Given the description of an element on the screen output the (x, y) to click on. 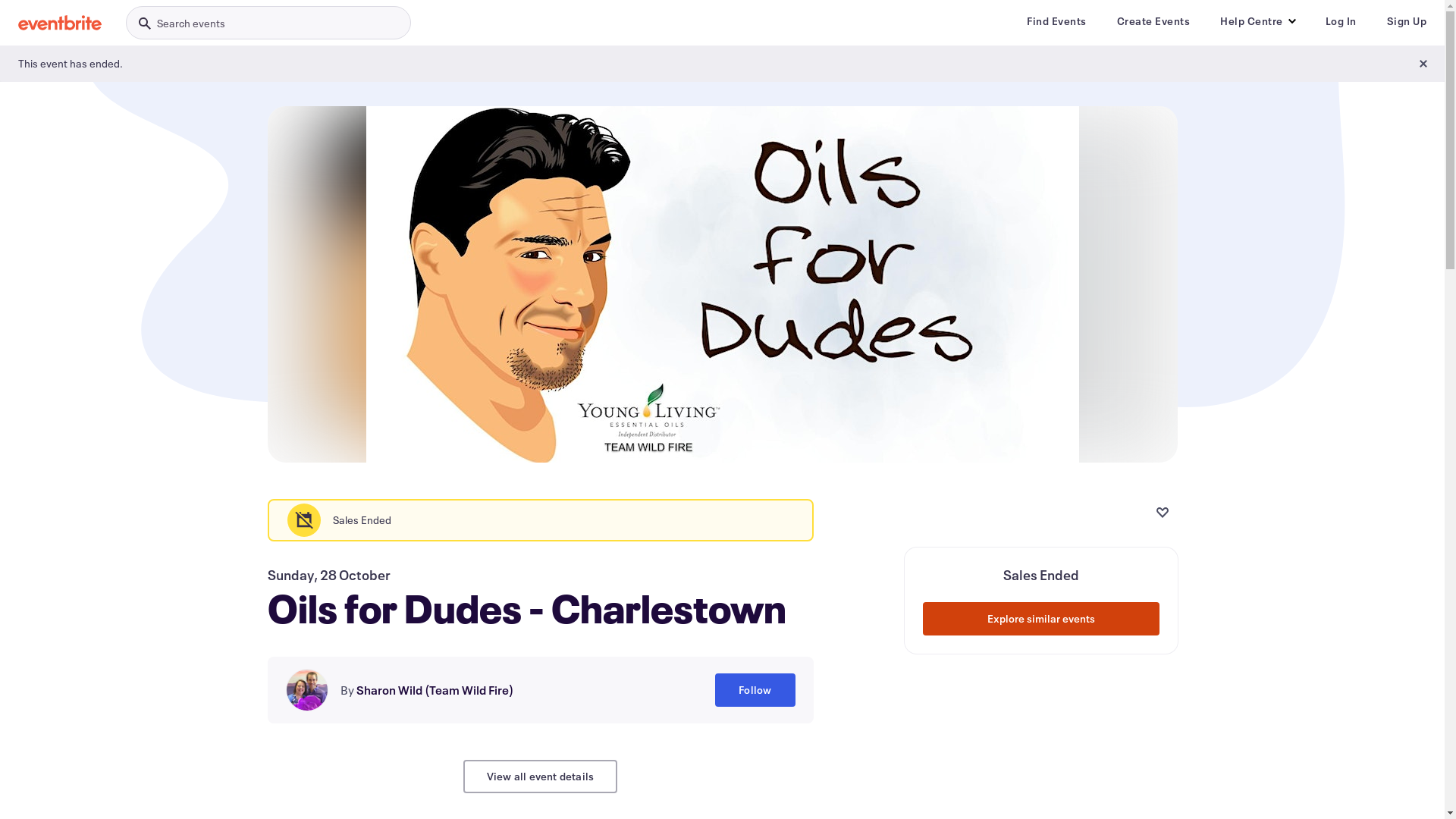
Follow Element type: text (754, 689)
Sign Up Element type: text (1406, 21)
Find Events Element type: text (1056, 21)
Explore similar events Element type: text (1040, 618)
Eventbrite Element type: hover (59, 22)
Search events Element type: text (268, 22)
Log In Element type: text (1340, 21)
View all event details Element type: text (540, 776)
Create Events Element type: text (1152, 21)
